Given the description of an element on the screen output the (x, y) to click on. 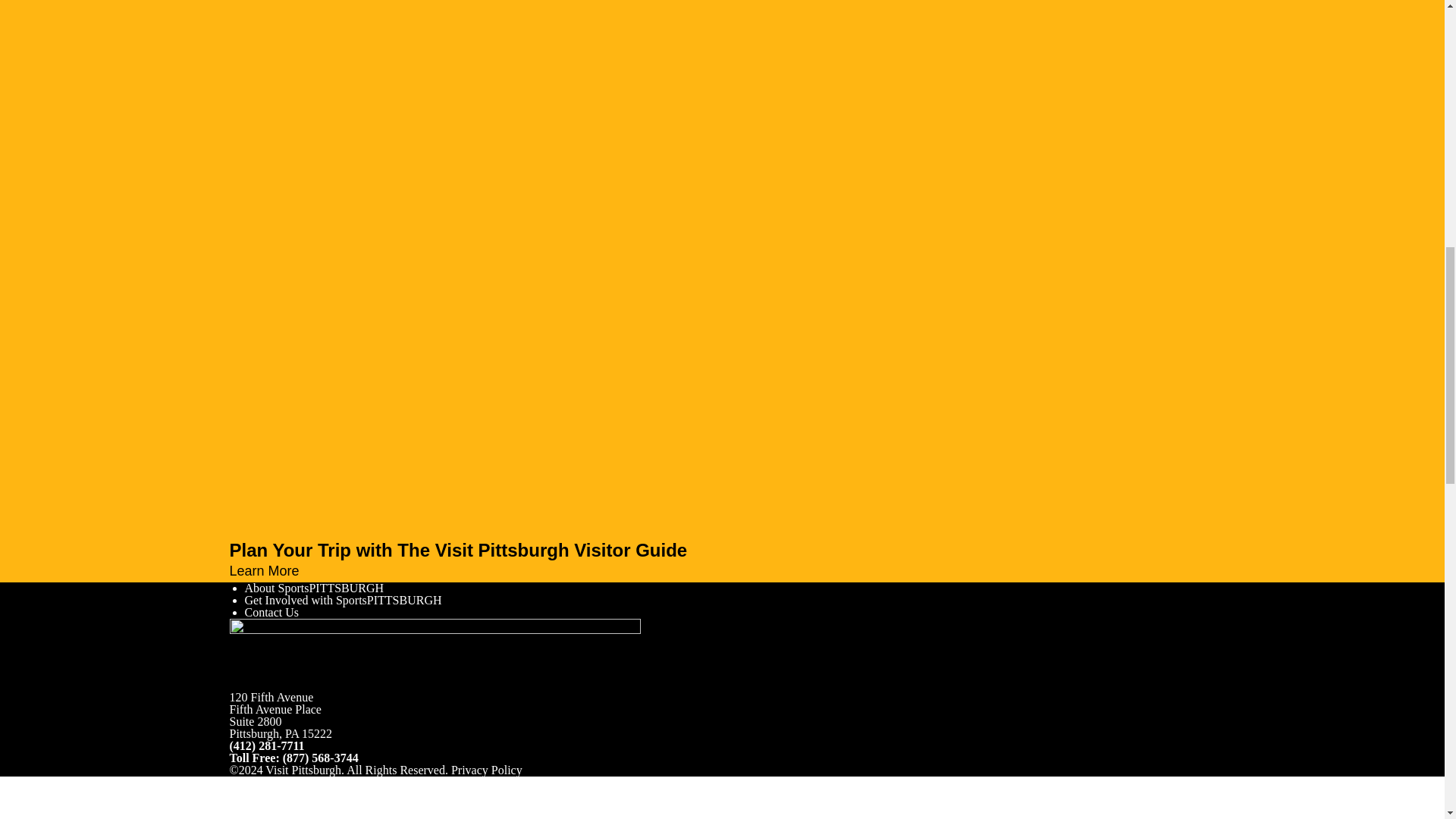
Plan Your Trip with The Visit Pittsburgh Visitor Guide (721, 550)
About SportsPITTSBURGH (314, 587)
Learn More (270, 570)
Get Involved with SportsPITTSBURGH (342, 599)
Privacy Policy (486, 769)
Contact Us (271, 612)
